Given the description of an element on the screen output the (x, y) to click on. 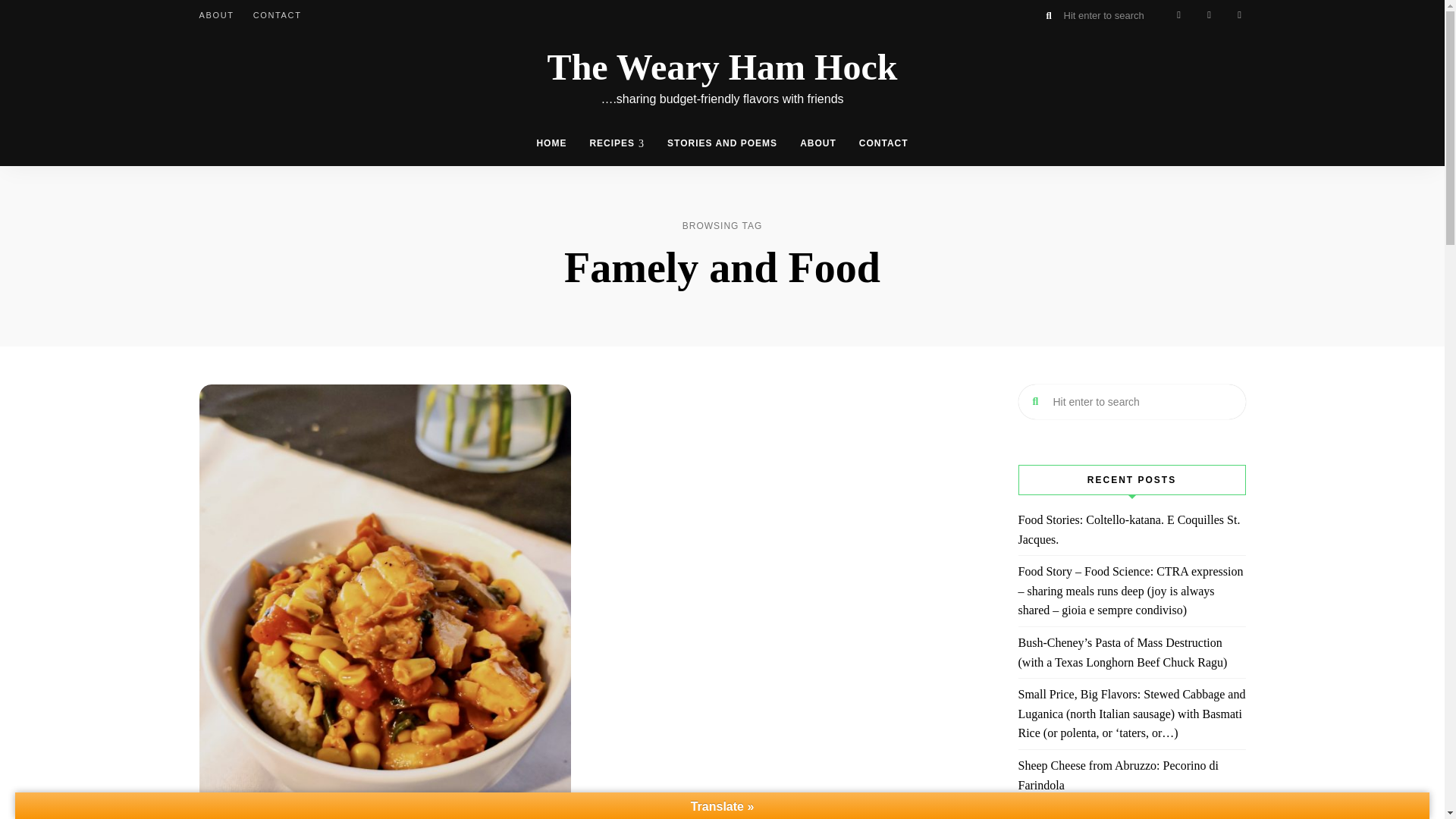
HOME (551, 143)
Sheep Cheese from Abruzzo: Pecorino di Farindola (1130, 774)
ABOUT (818, 143)
instagram (1208, 15)
CONTACT (883, 143)
STORIES AND POEMS (722, 143)
RECIPES (617, 143)
facebook (1178, 15)
The Weary Ham Hock (722, 67)
CONTACT (277, 15)
